Given the description of an element on the screen output the (x, y) to click on. 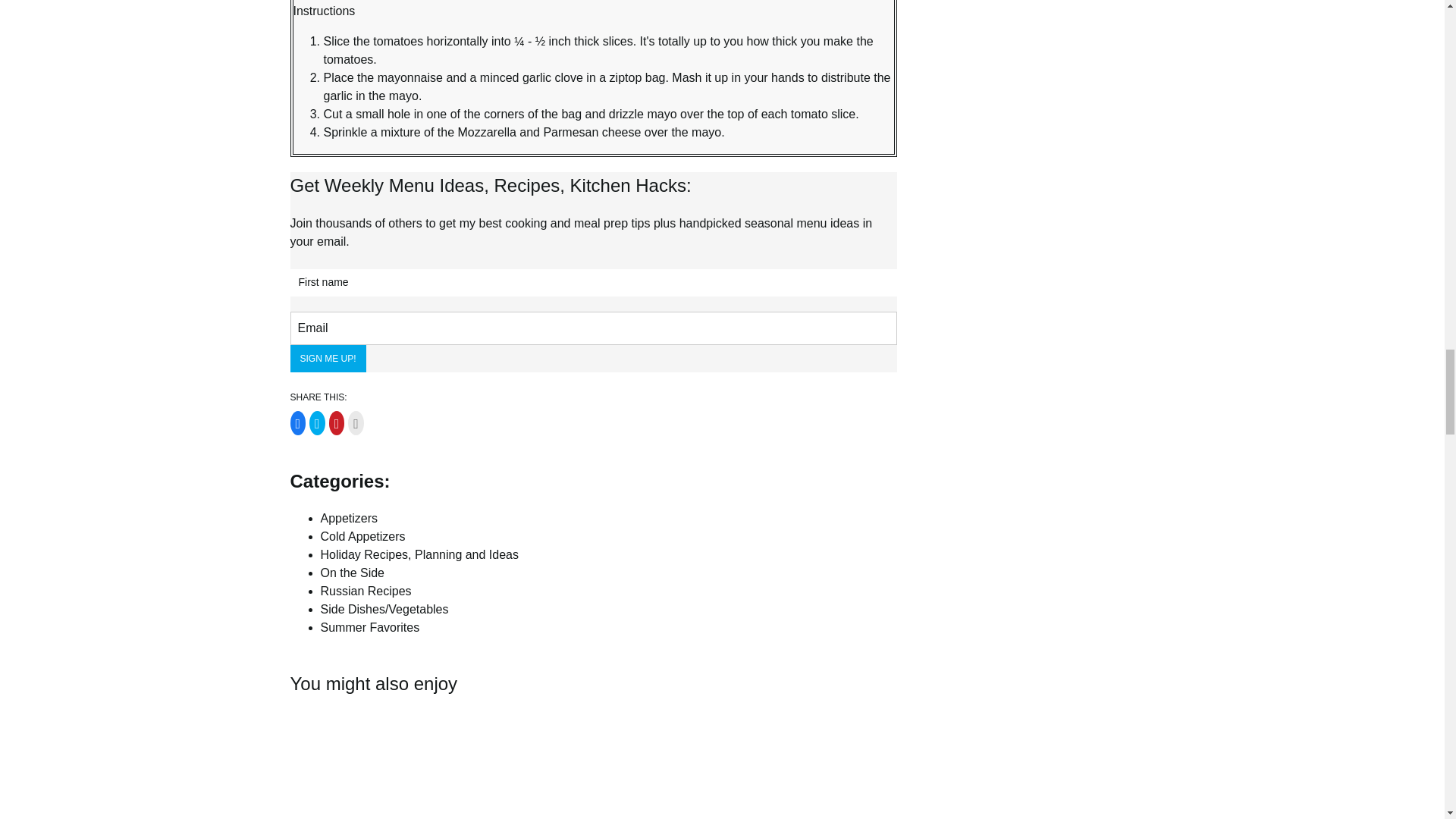
Click to share on Pinterest (337, 422)
Click to email a link to a friend (355, 422)
Click to share on Facebook (297, 422)
Sign me up! (327, 358)
Click to share on Twitter (316, 422)
